Given the description of an element on the screen output the (x, y) to click on. 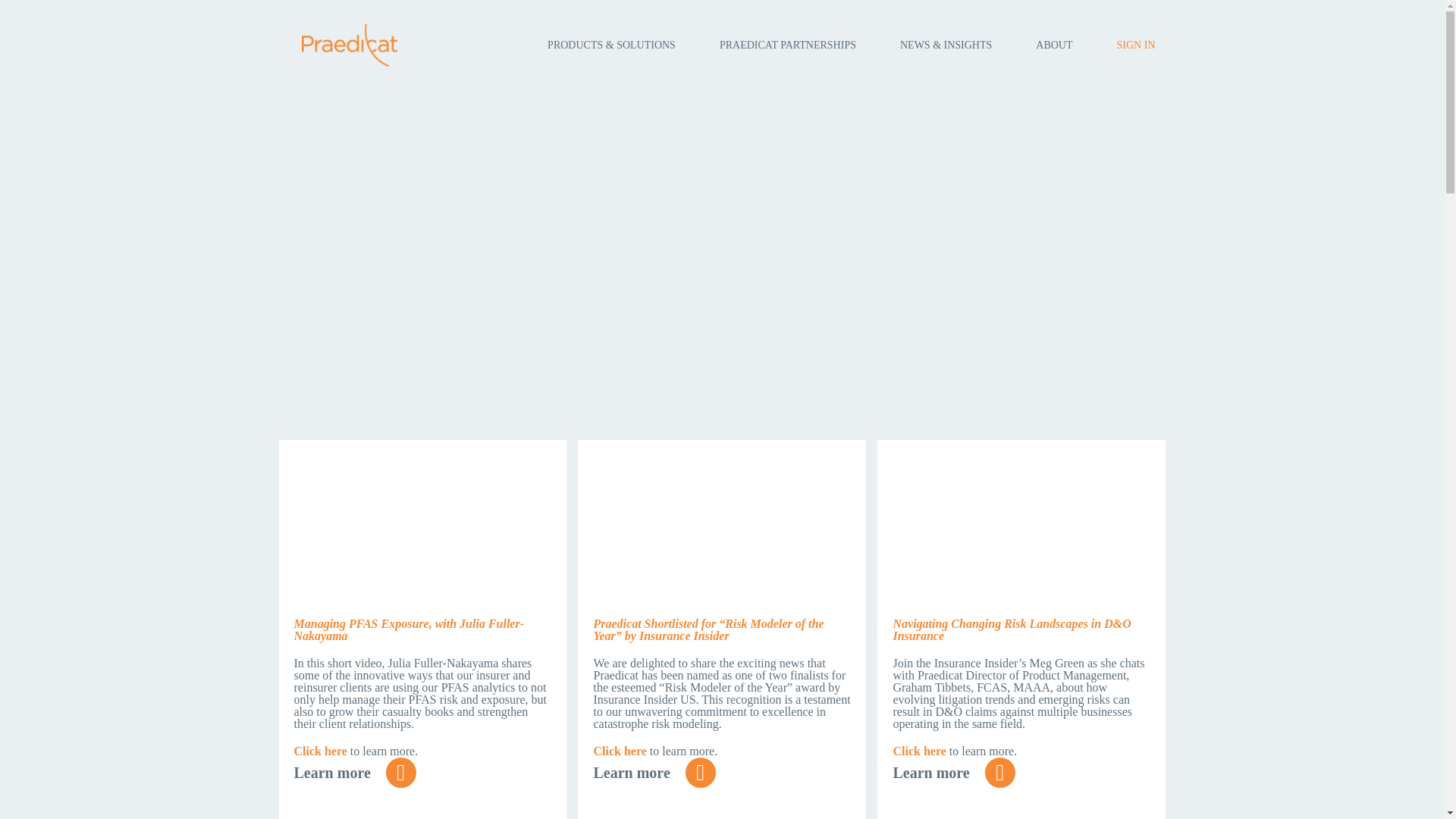
Learn more (358, 776)
Learn more (657, 776)
Learn more (957, 776)
Click here (619, 750)
Click here (918, 750)
Click here (320, 750)
Managing PFAS Exposure, with Julia Fuller-Nakayama (409, 629)
SIGN IN (1136, 45)
ABOUT (1054, 45)
PRAEDICAT PARTNERSHIPS (787, 45)
